Given the description of an element on the screen output the (x, y) to click on. 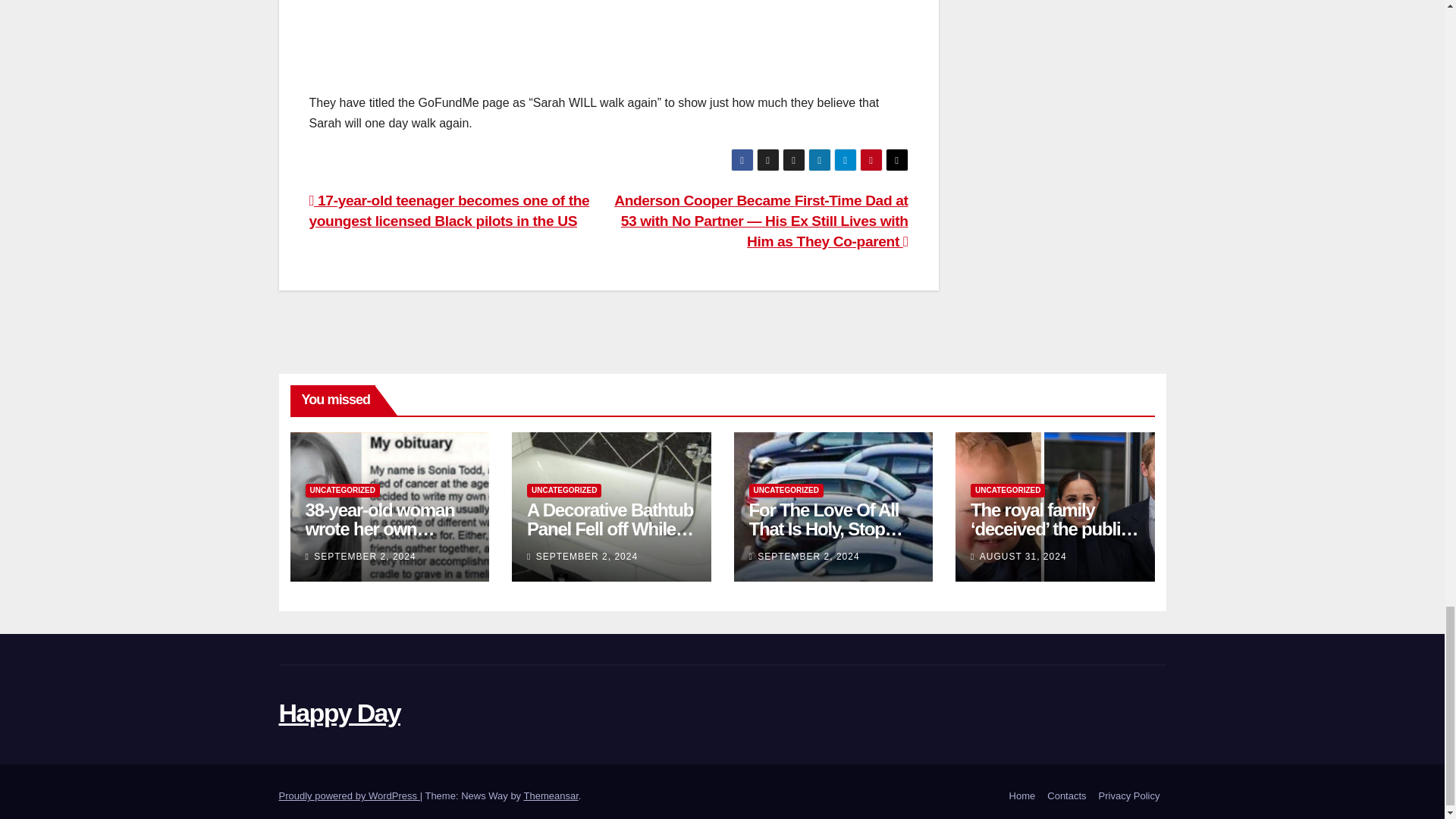
SEPTEMBER 2, 2024 (586, 556)
SEPTEMBER 2, 2024 (364, 556)
UNCATEGORIZED (564, 490)
UNCATEGORIZED (786, 490)
Home (1022, 795)
UNCATEGORIZED (341, 490)
